Given the description of an element on the screen output the (x, y) to click on. 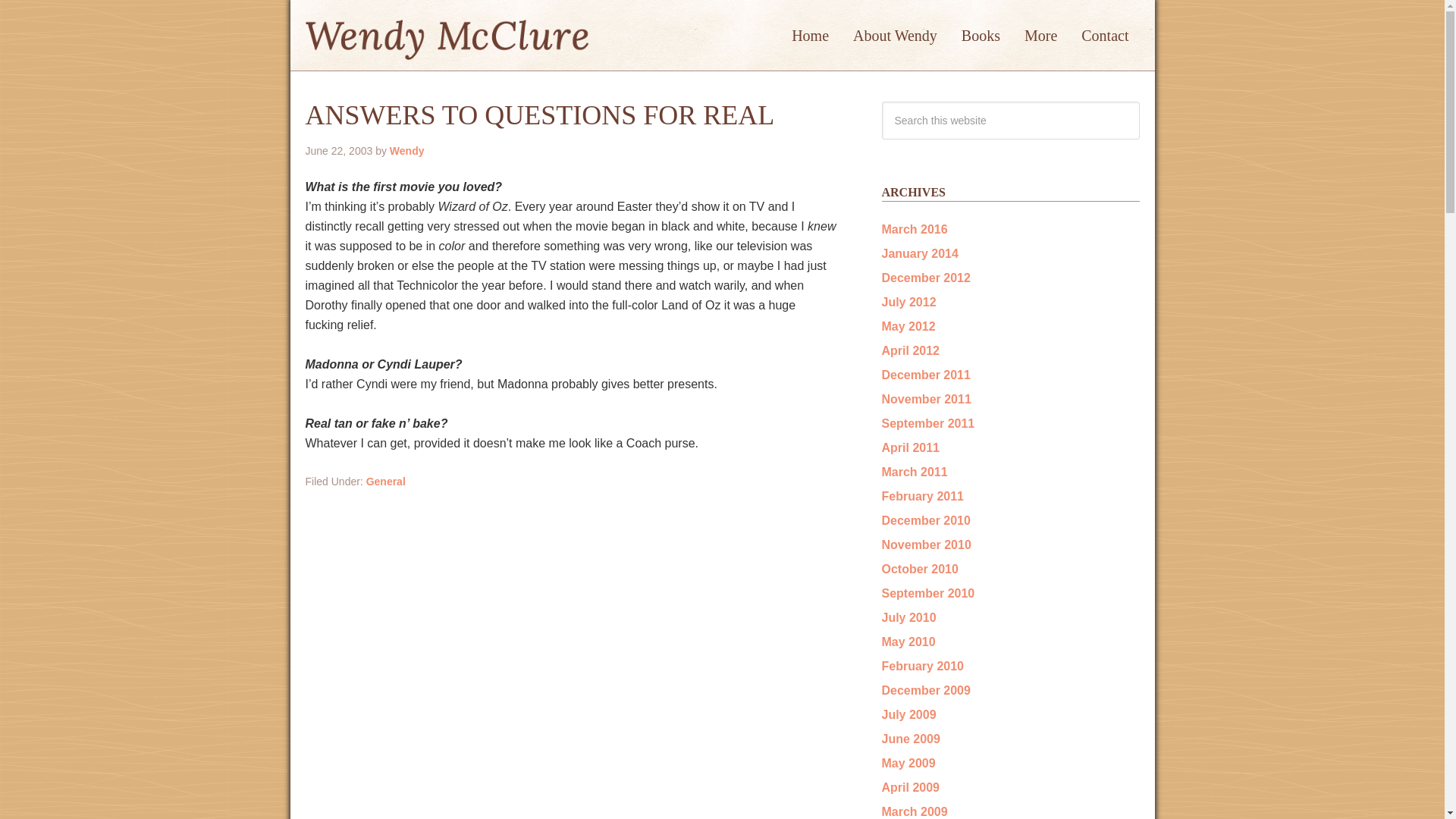
December 2011 (924, 374)
April 2011 (909, 447)
More (1040, 35)
January 2014 (919, 253)
September 2011 (927, 422)
September 2010 (927, 593)
General (386, 481)
Wendy (407, 150)
March 2016 (913, 228)
Books (980, 35)
October 2010 (919, 568)
About Wendy (895, 35)
